Given the description of an element on the screen output the (x, y) to click on. 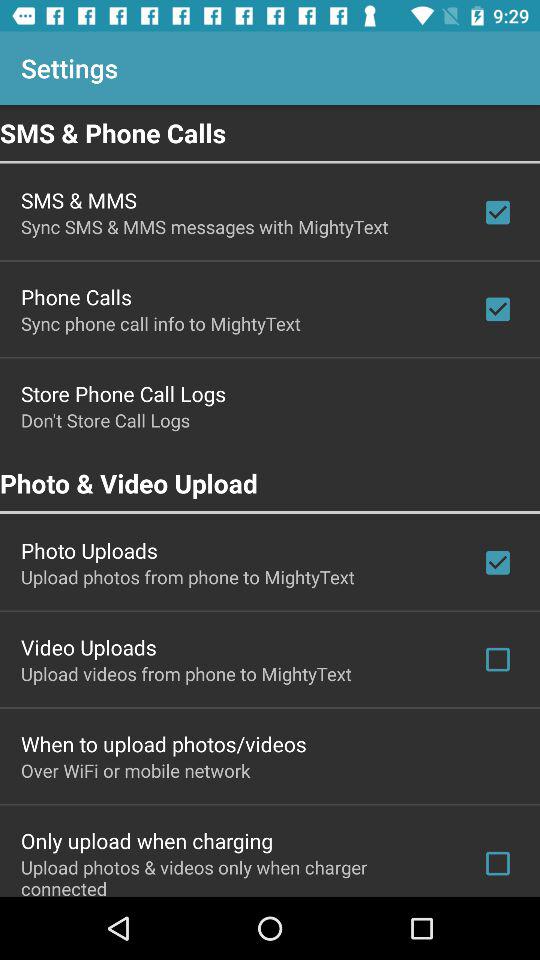
flip to video uploads app (88, 647)
